Given the description of an element on the screen output the (x, y) to click on. 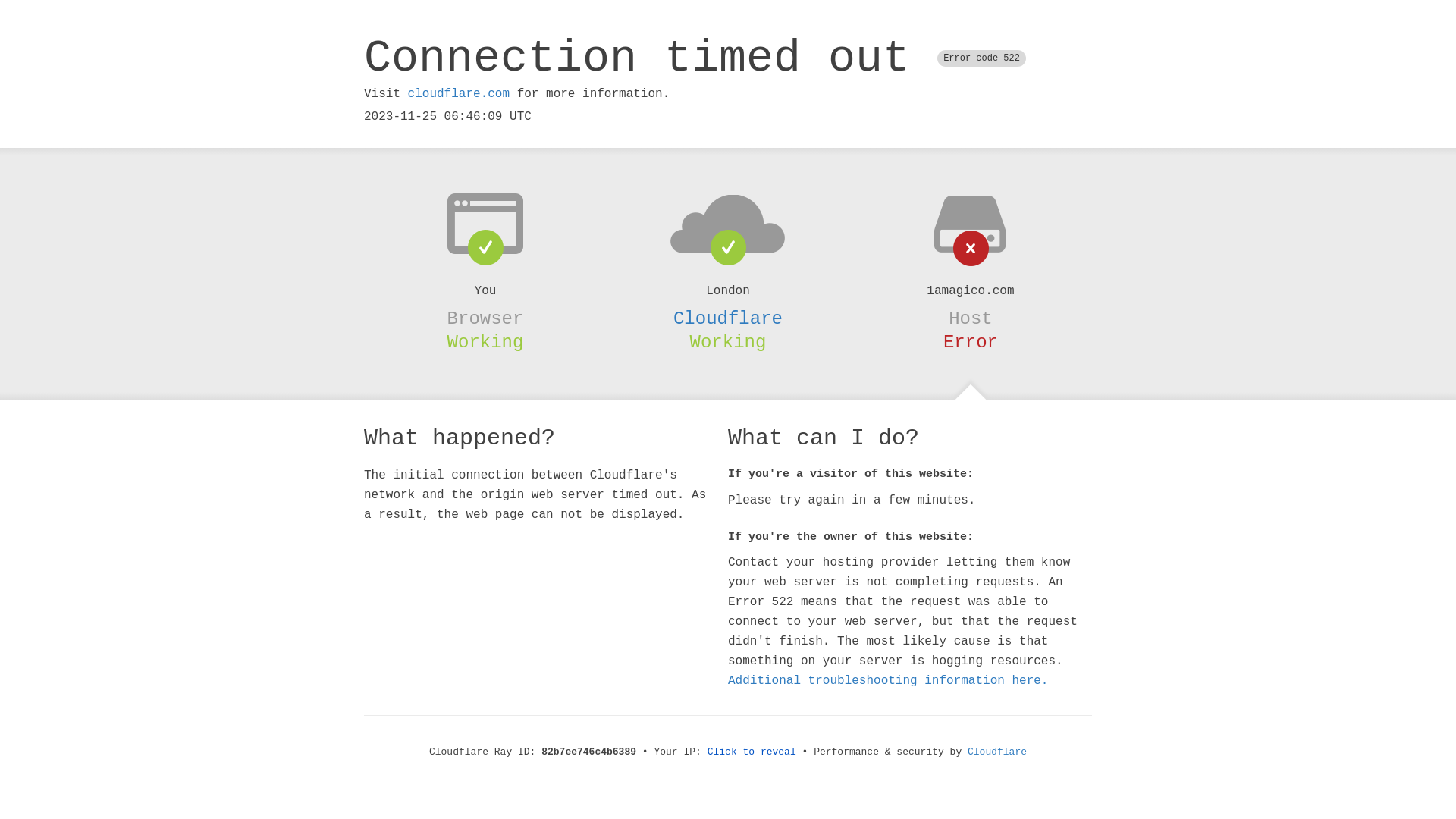
Additional troubleshooting information here. Element type: text (888, 680)
Cloudflare Element type: text (727, 318)
Cloudflare Element type: text (996, 751)
cloudflare.com Element type: text (458, 93)
Click to reveal Element type: text (751, 751)
